Given the description of an element on the screen output the (x, y) to click on. 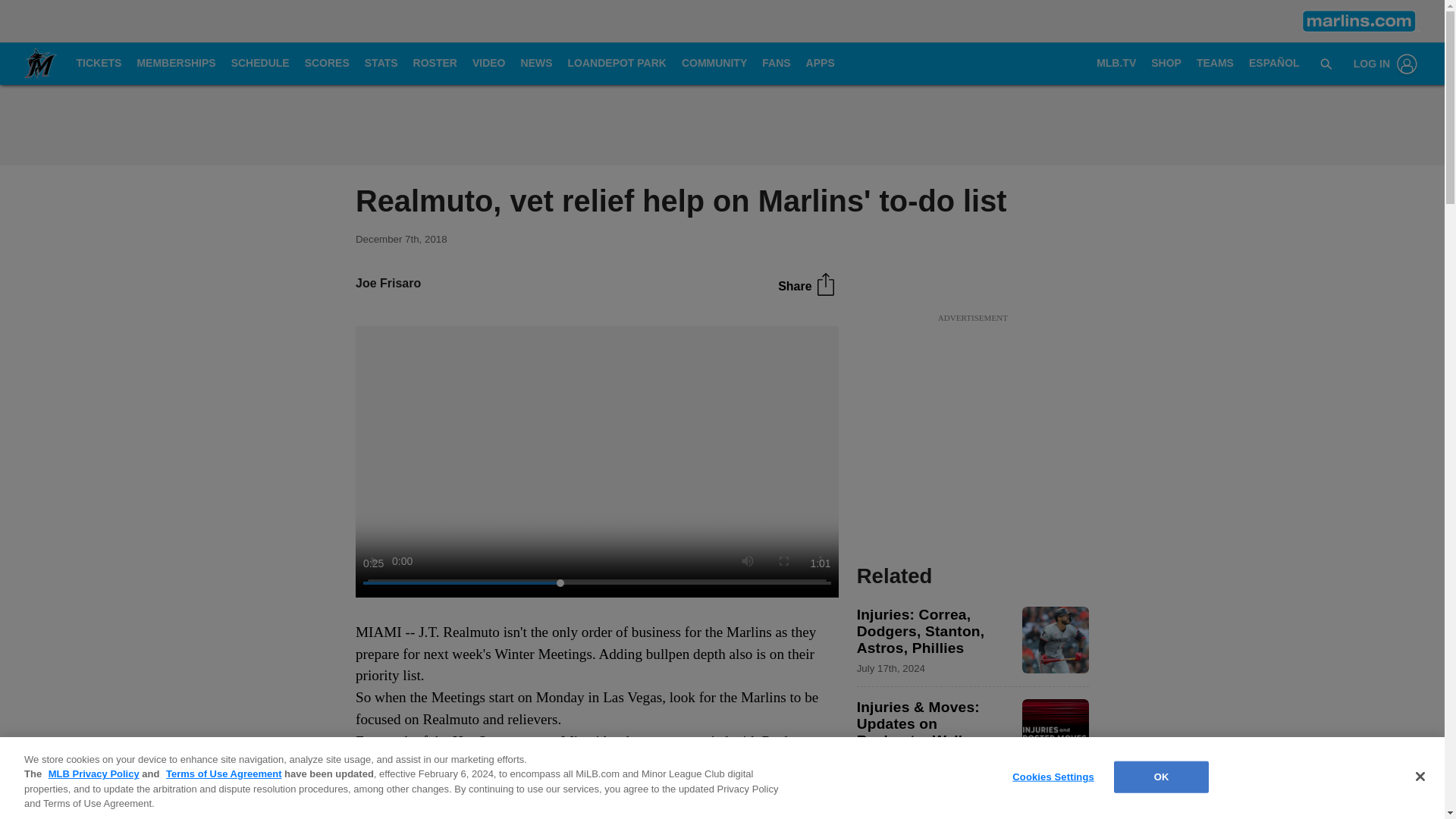
Hill on upcoming Winter Meetings (596, 461)
search-2 (1326, 63)
3rd party ad content (721, 124)
SCORES (326, 63)
TICKETS (98, 63)
SCHEDULE (260, 63)
STATS (381, 63)
3rd party ad content (972, 420)
ROSTER (435, 63)
share-square-2 (825, 283)
MEMBERSHIPS (175, 63)
